Given the description of an element on the screen output the (x, y) to click on. 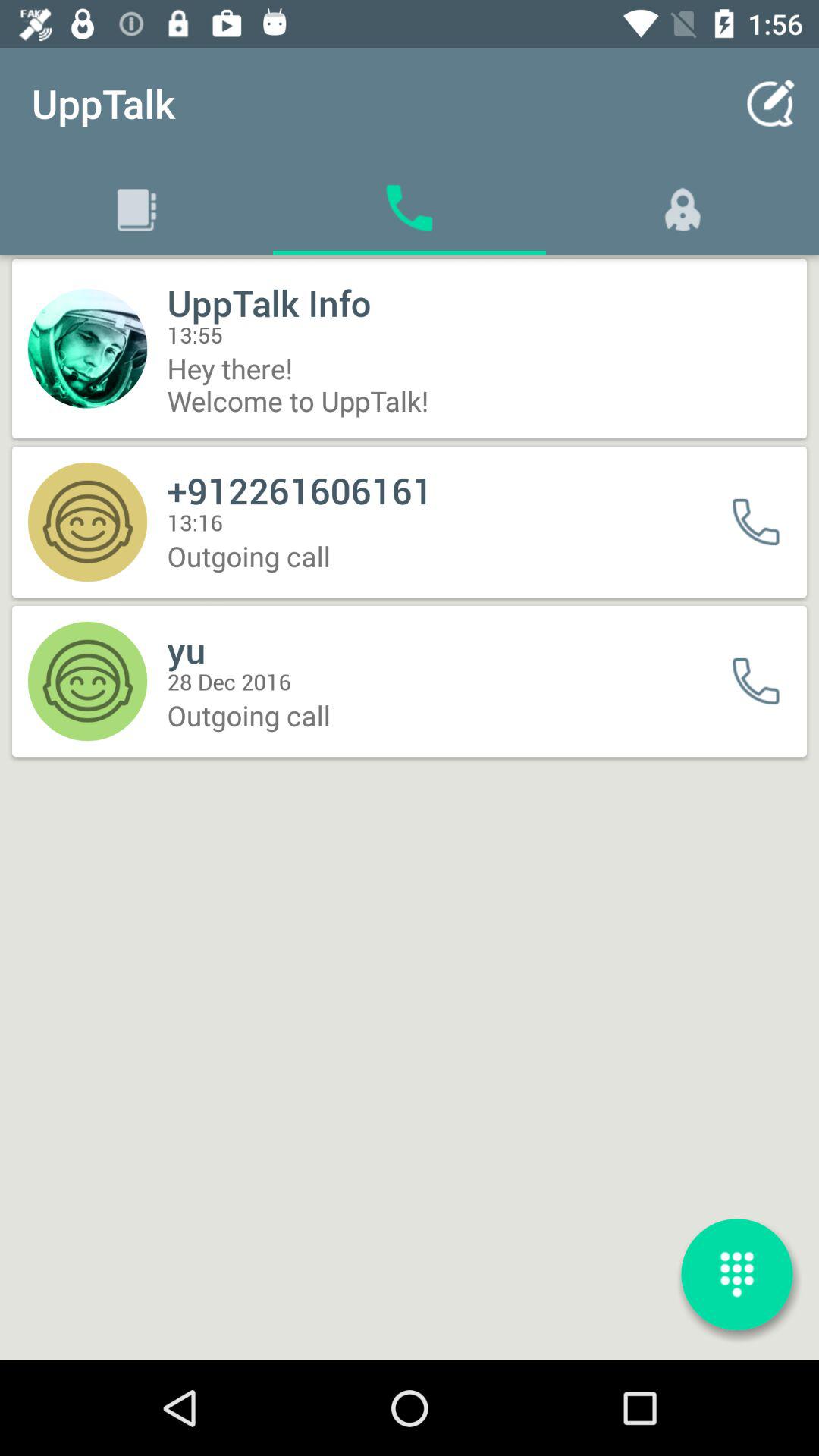
button to show the phone number panel (737, 1274)
